Given the description of an element on the screen output the (x, y) to click on. 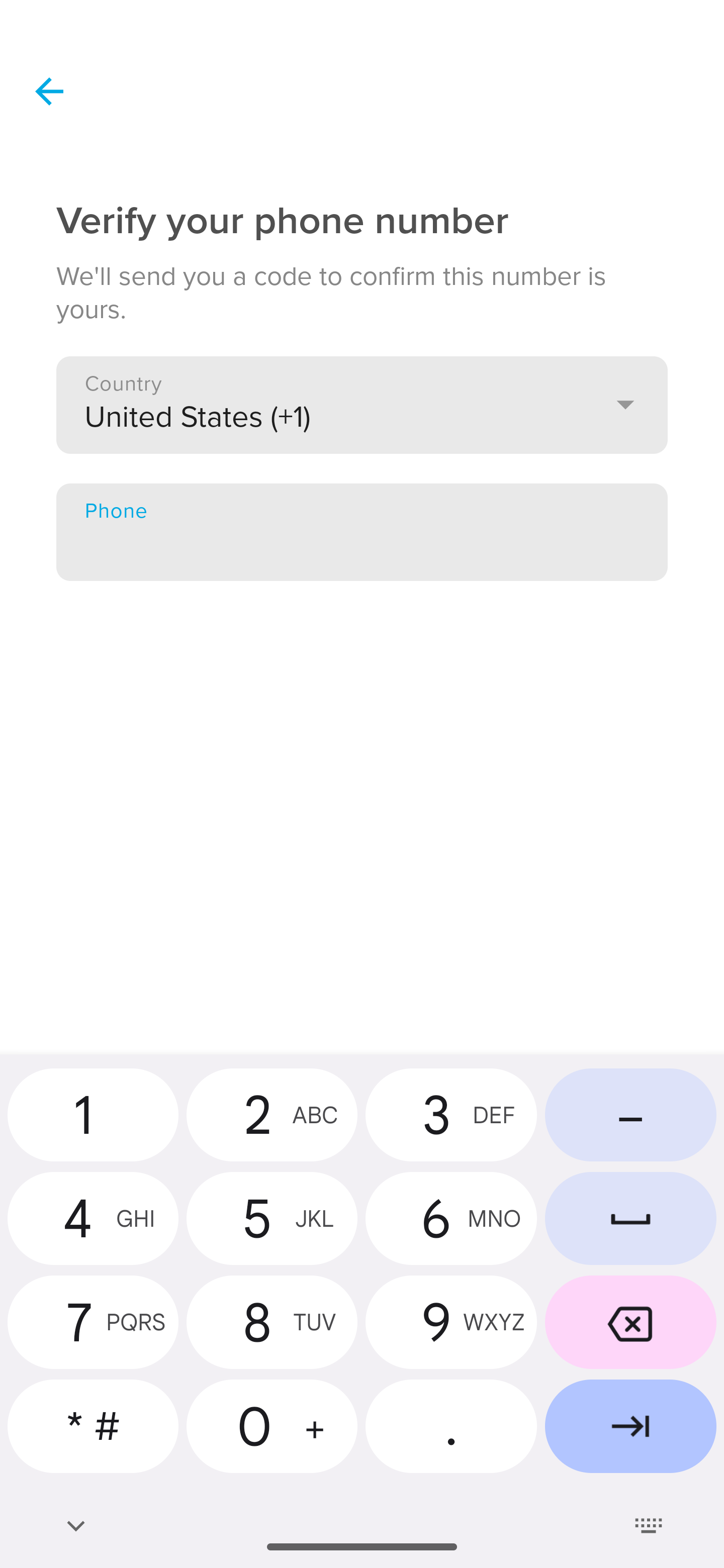
Navigate up (49, 91)
United States (+1) (361, 404)
Phone (361, 531)
